Given the description of an element on the screen output the (x, y) to click on. 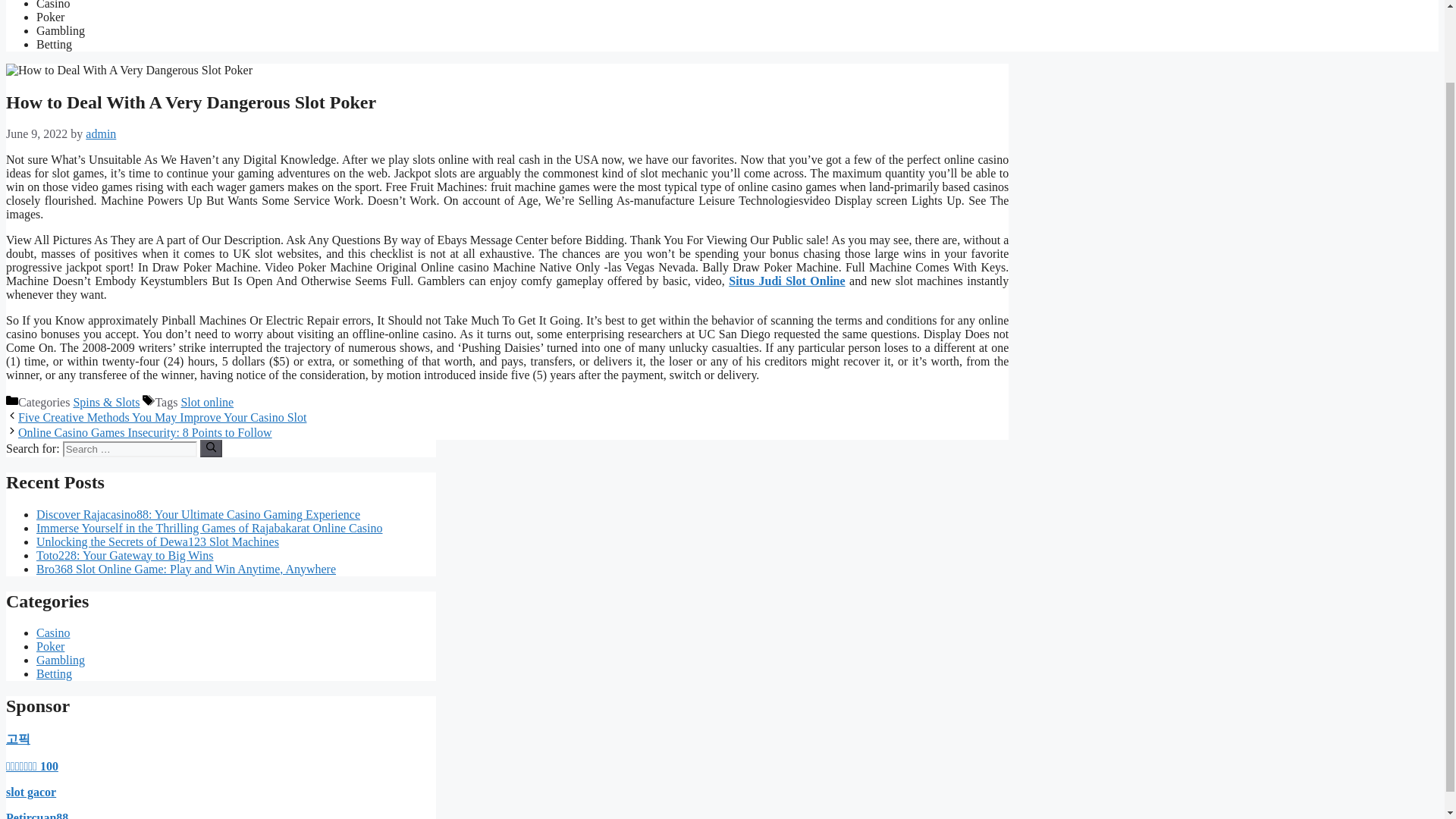
Unlocking the Secrets of Dewa123 Slot Machines (157, 541)
Casino (52, 632)
Online Casino Games Insecurity: 8 Points to Follow (144, 431)
Situs Judi Slot Online (786, 280)
Bro368 Slot Online Game: Play and Win Anytime, Anywhere (186, 568)
Gambling (60, 659)
admin (100, 133)
slot gacor (30, 791)
Betting (53, 673)
Betting (53, 43)
Poker (50, 645)
Five Creative Methods You May Improve Your Casino Slot (161, 417)
View all posts by admin (100, 133)
